Given the description of an element on the screen output the (x, y) to click on. 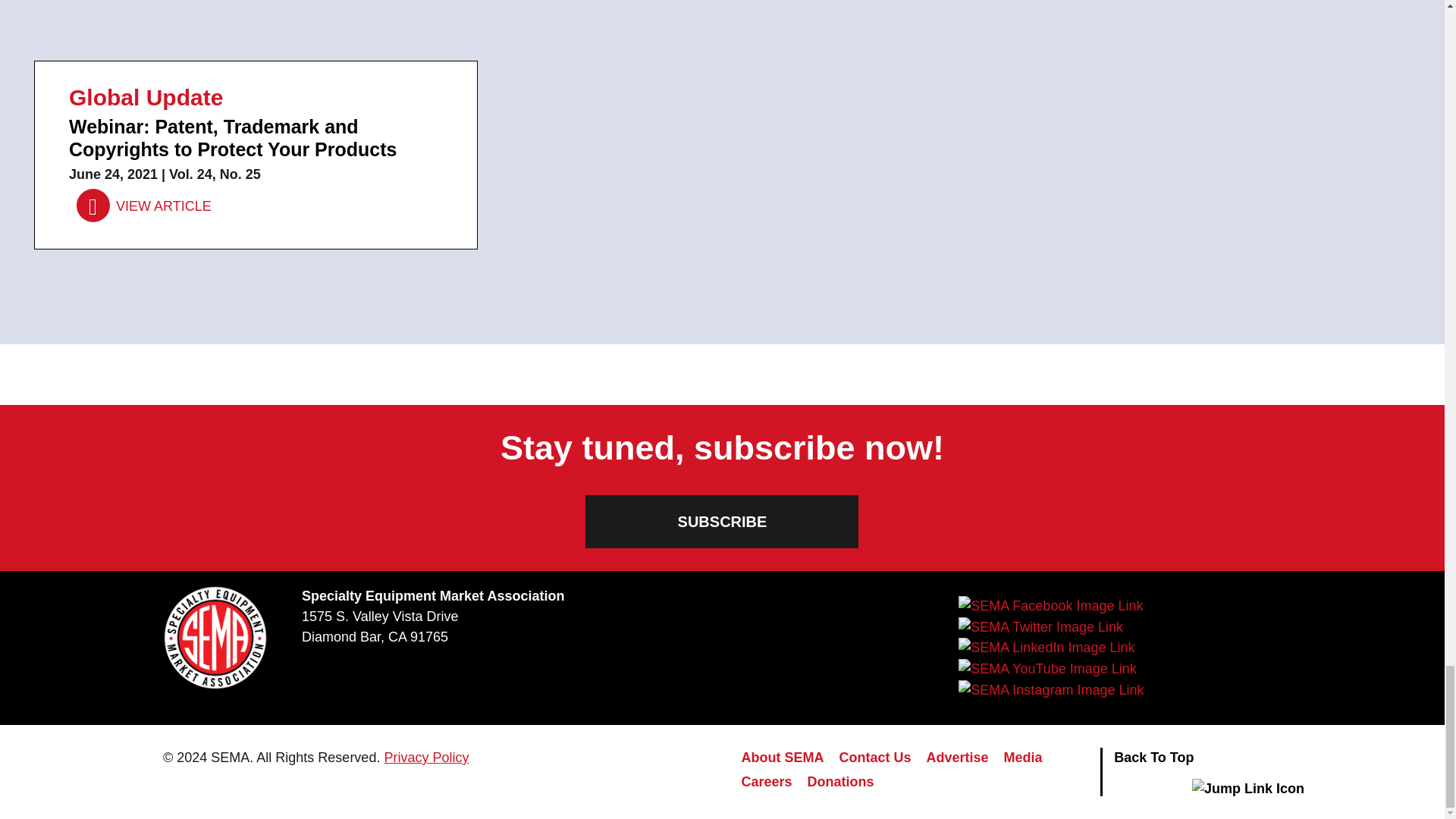
SEMA Instagram Link (1050, 690)
SEMA Twitter Link (1040, 627)
SEMA Facebook Link (1050, 605)
VIEW ARTICLE (143, 205)
SEMA YouTube Link (1046, 668)
SUBSCRIBE (722, 521)
SEMA LinkedIn Link (1046, 648)
Privacy Policy (426, 757)
